Given the description of an element on the screen output the (x, y) to click on. 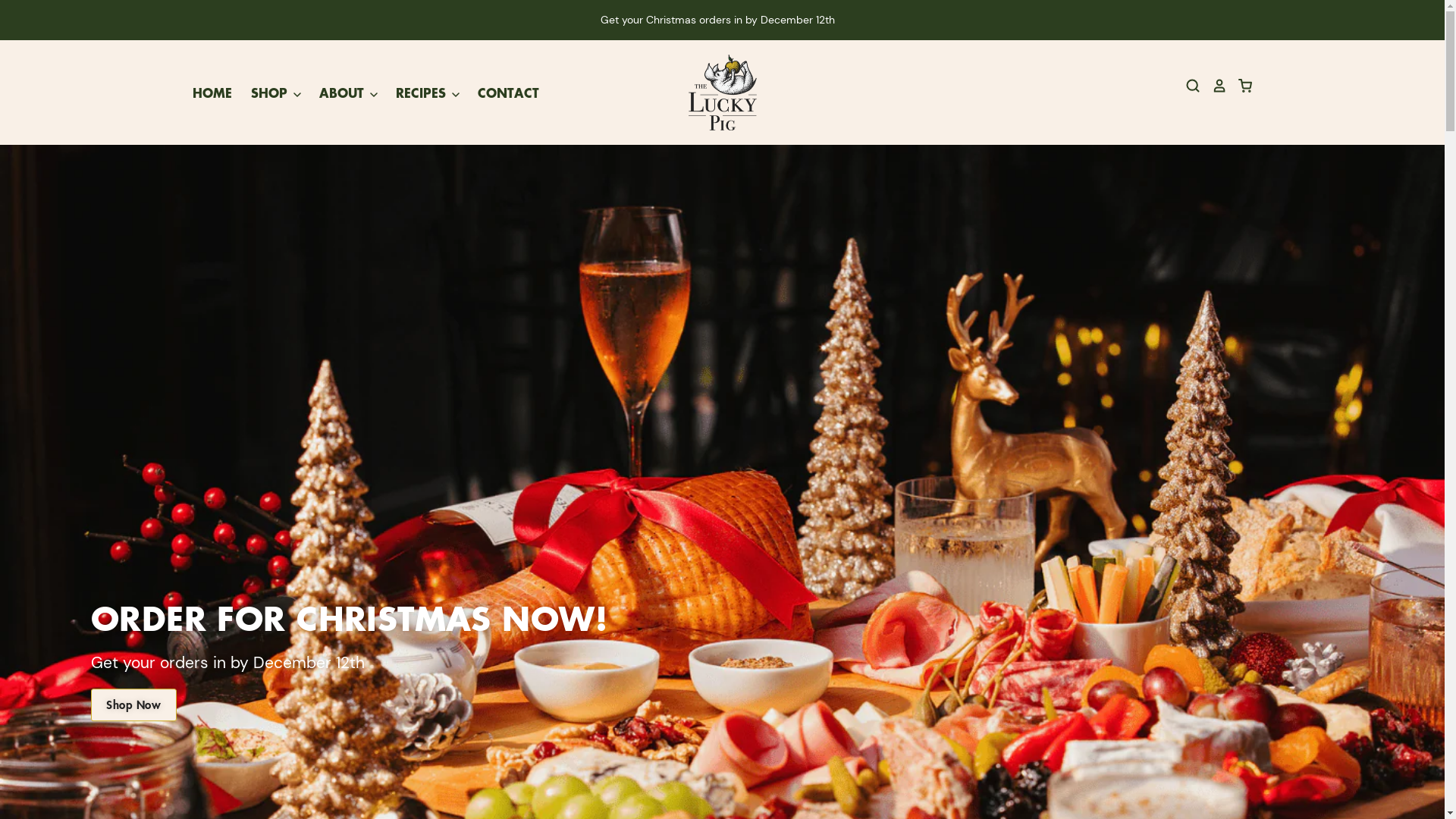
Shop Now Element type: text (133, 704)
HOME Element type: text (211, 92)
CONTACT Element type: text (498, 92)
